Given the description of an element on the screen output the (x, y) to click on. 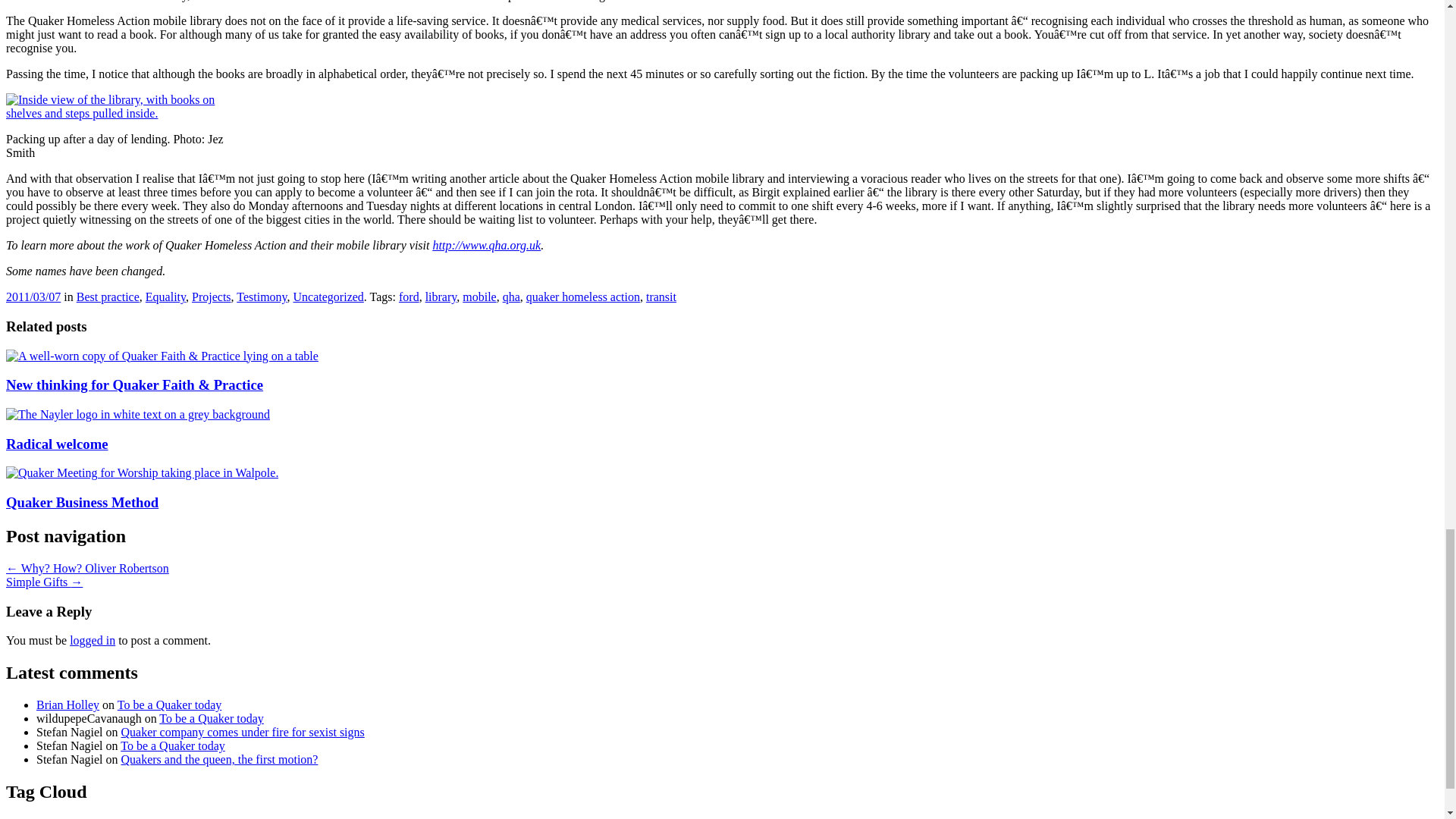
Permalink to Radical welcome (56, 443)
Permalink to Quaker Business Method (81, 502)
Inside the van, packing up (121, 106)
Best practice (108, 296)
